Given the description of an element on the screen output the (x, y) to click on. 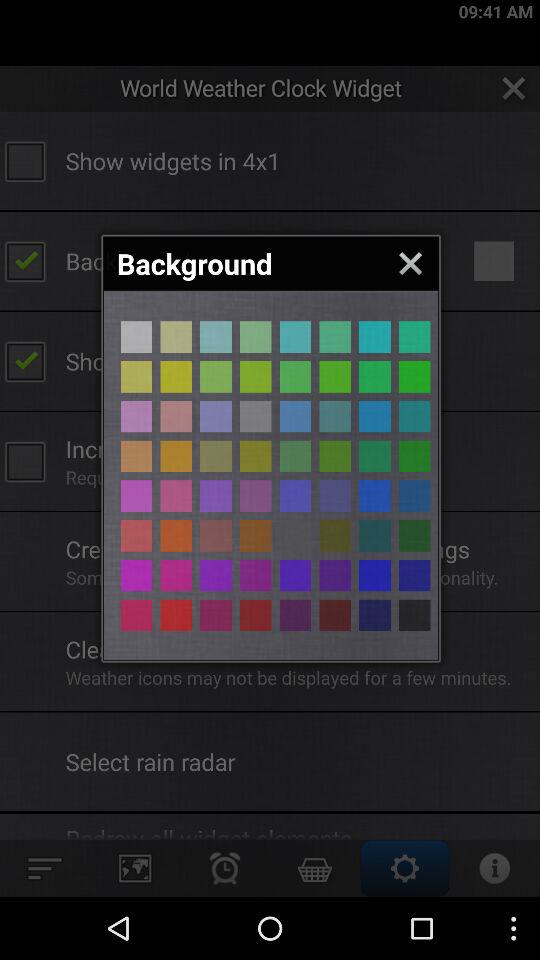
select colour (136, 376)
